Given the description of an element on the screen output the (x, y) to click on. 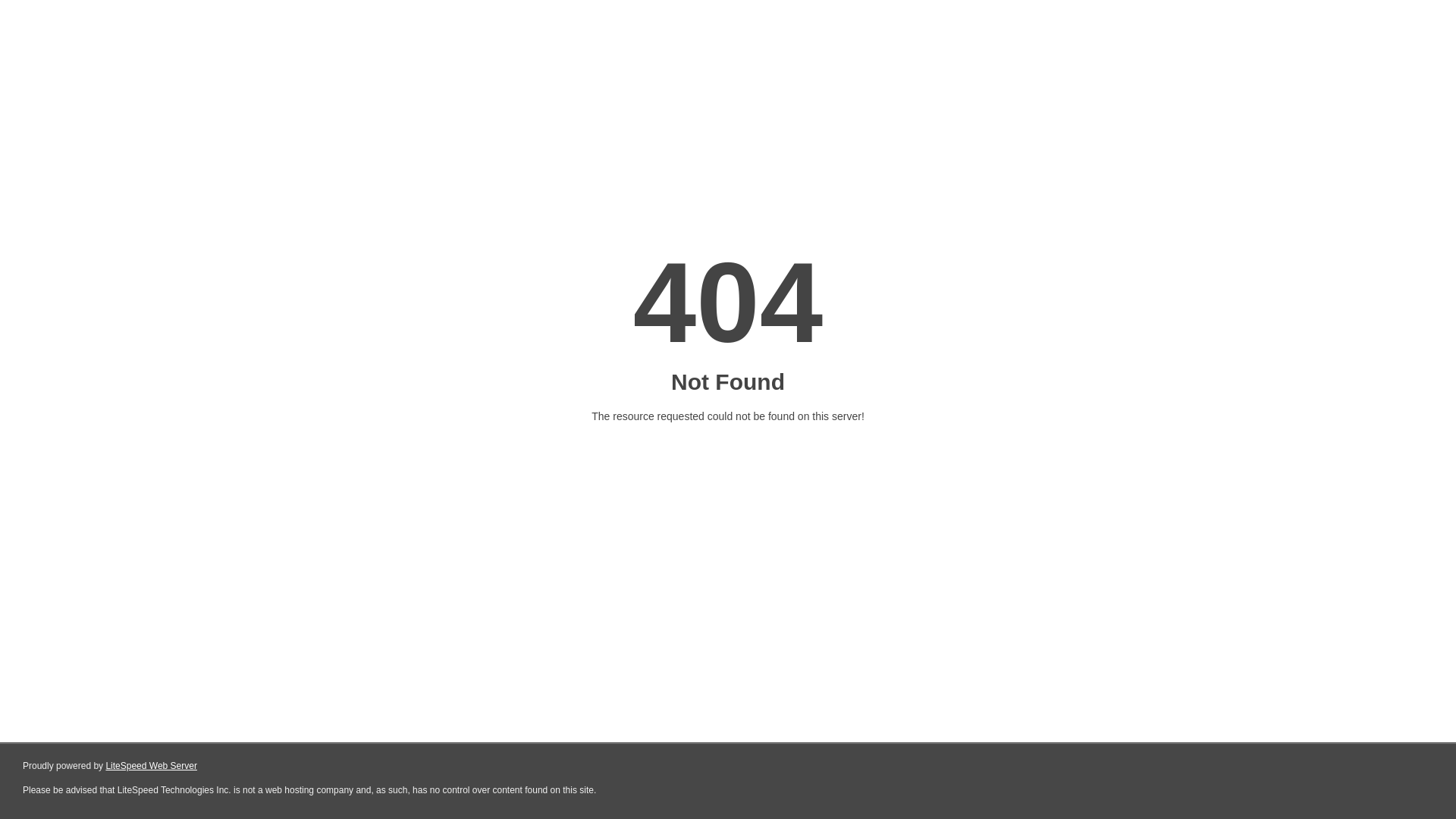
LiteSpeed Web Server Element type: text (151, 765)
